Given the description of an element on the screen output the (x, y) to click on. 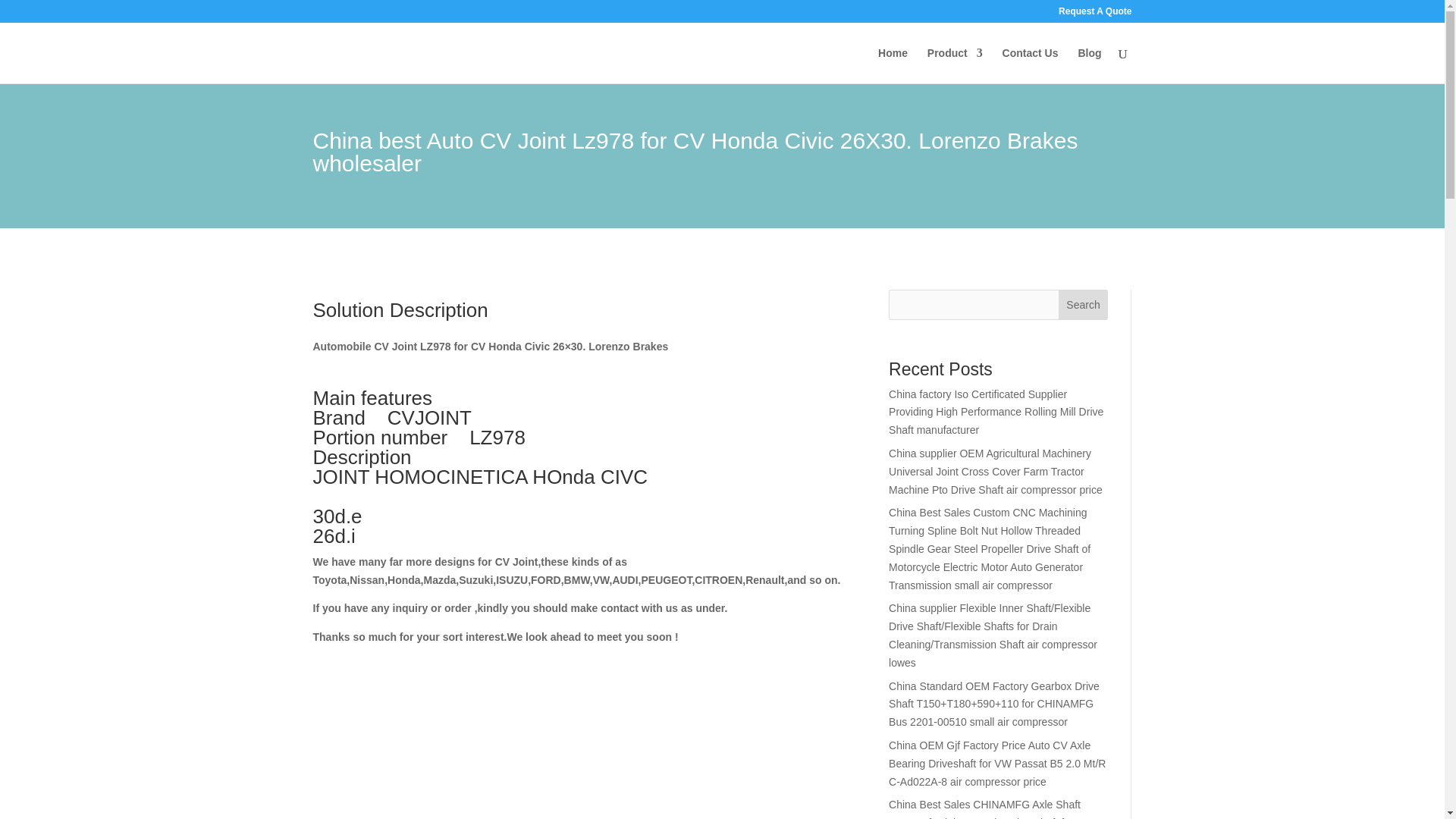
Search (1083, 304)
Product (954, 65)
Contact Us (1030, 65)
Request A Quote (1094, 14)
